Given the description of an element on the screen output the (x, y) to click on. 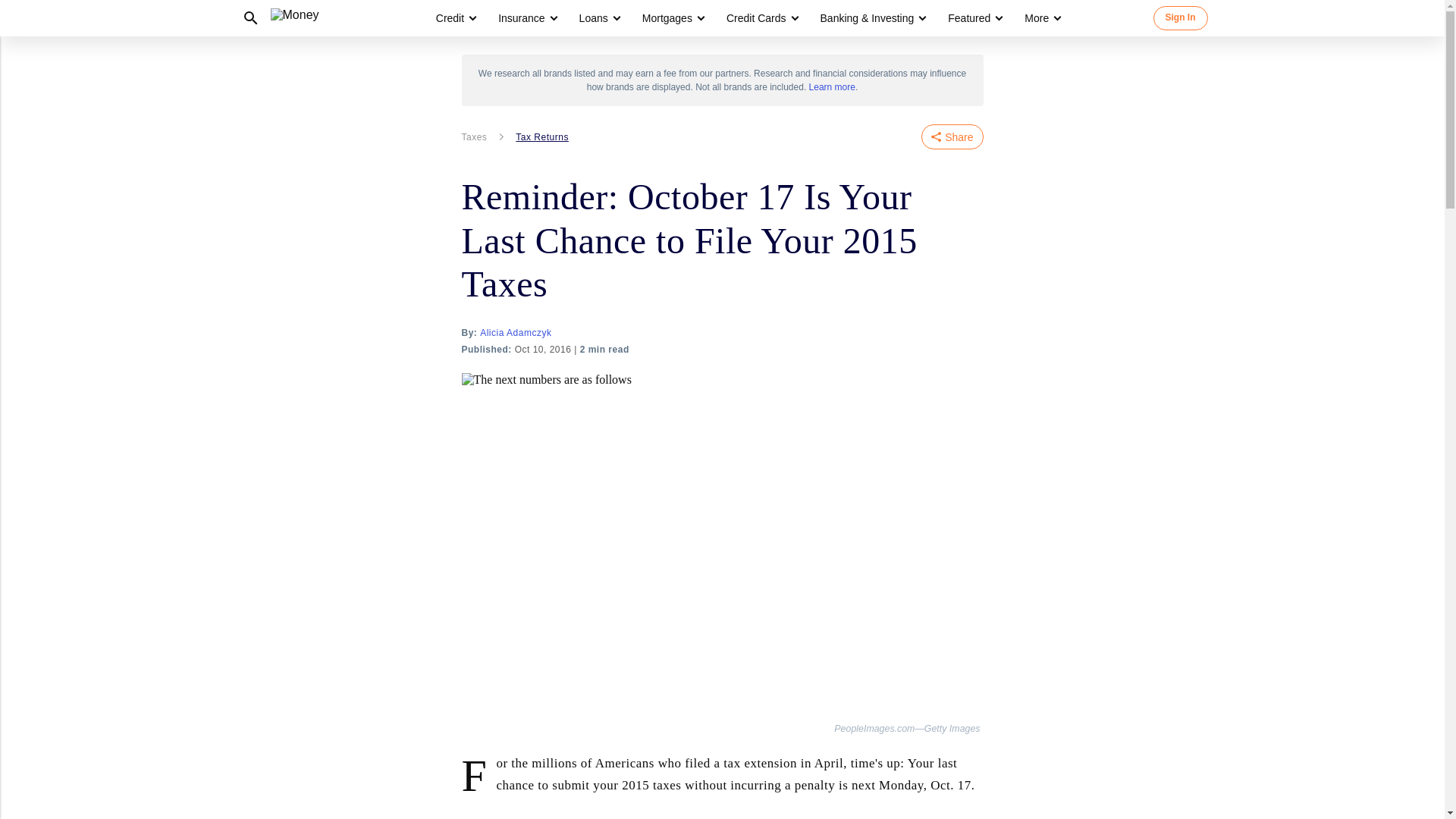
Loans (598, 18)
Credit Cards (756, 18)
Loans (593, 18)
Mortgages (672, 18)
Insurance (520, 18)
Mortgages (667, 18)
Insurance (526, 18)
Credit (449, 18)
Credit (455, 18)
Credit Cards (761, 18)
